Given the description of an element on the screen output the (x, y) to click on. 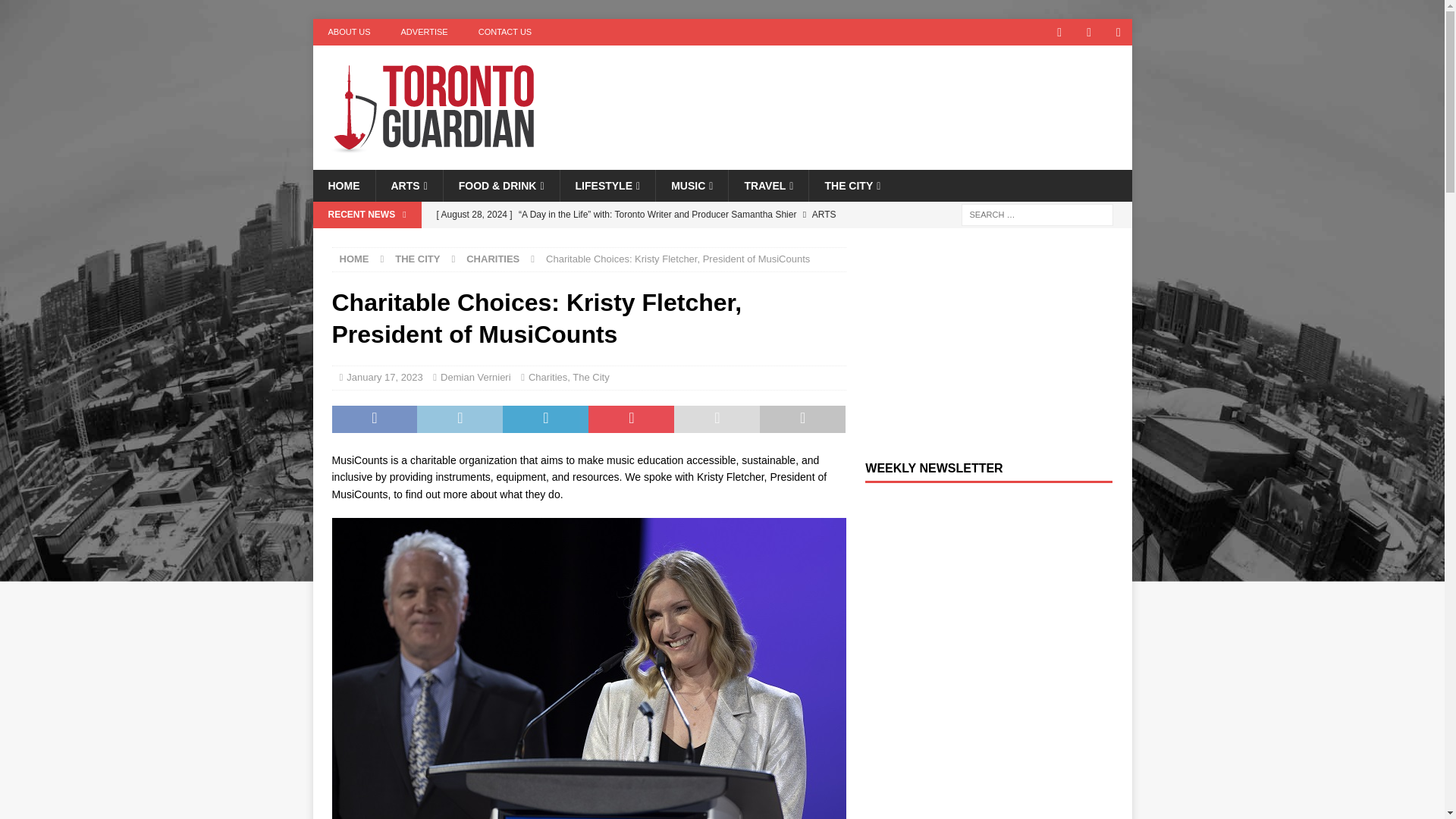
Fan Expo 2024: Live Long and May the Force Be With You (636, 240)
HOME (343, 185)
ARTS (408, 185)
MUSIC (691, 185)
Advertisement (868, 94)
ADVERTISE (424, 31)
LIFESTYLE (607, 185)
ABOUT US (349, 31)
TRAVEL (768, 185)
CONTACT US (505, 31)
